Given the description of an element on the screen output the (x, y) to click on. 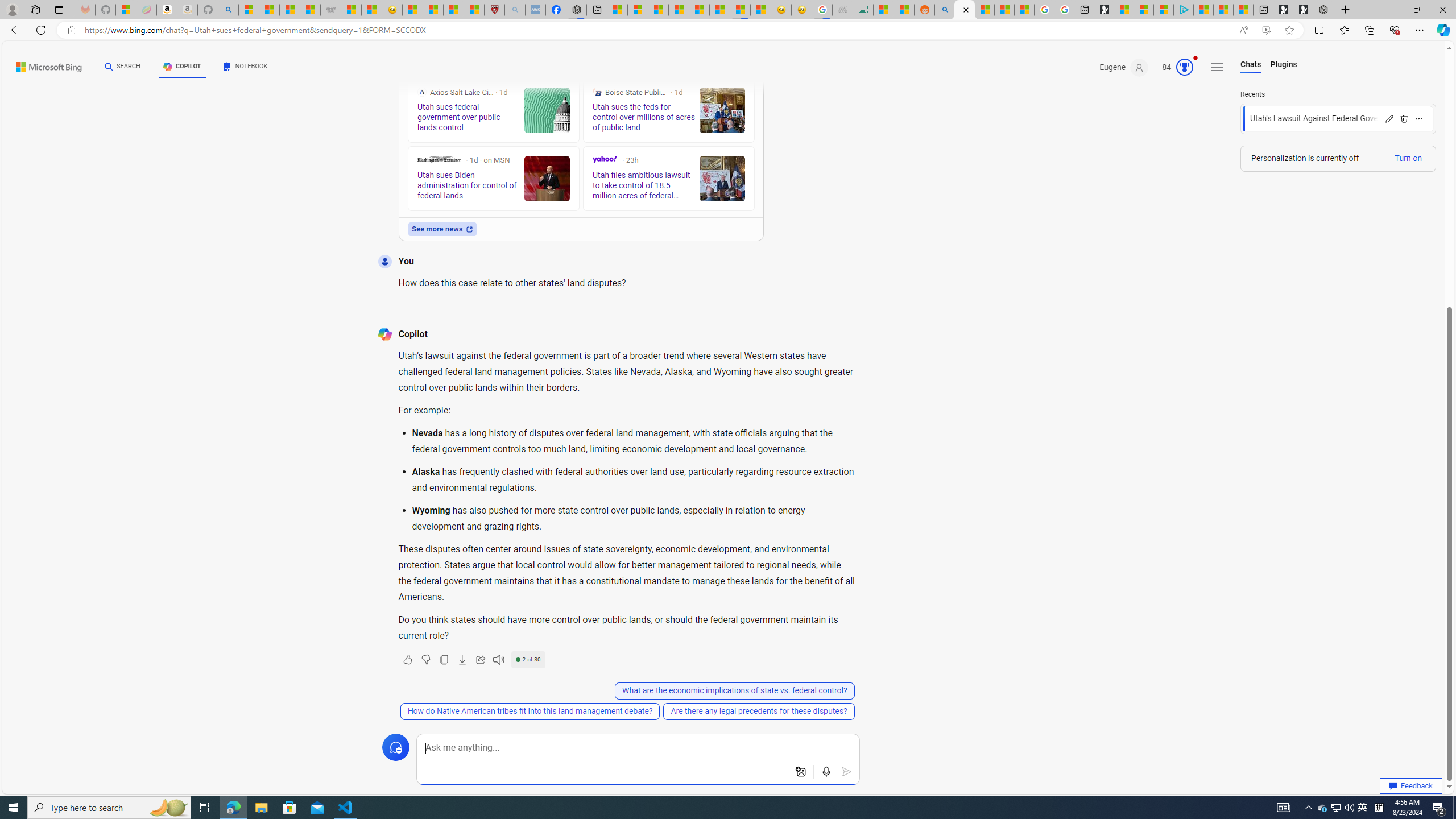
Copy (442, 659)
Are there any legal precedents for these disputes? (758, 710)
Ask me anything... (637, 748)
Microsoft Rewards 84 (1173, 67)
See more news (441, 228)
